Given the description of an element on the screen output the (x, y) to click on. 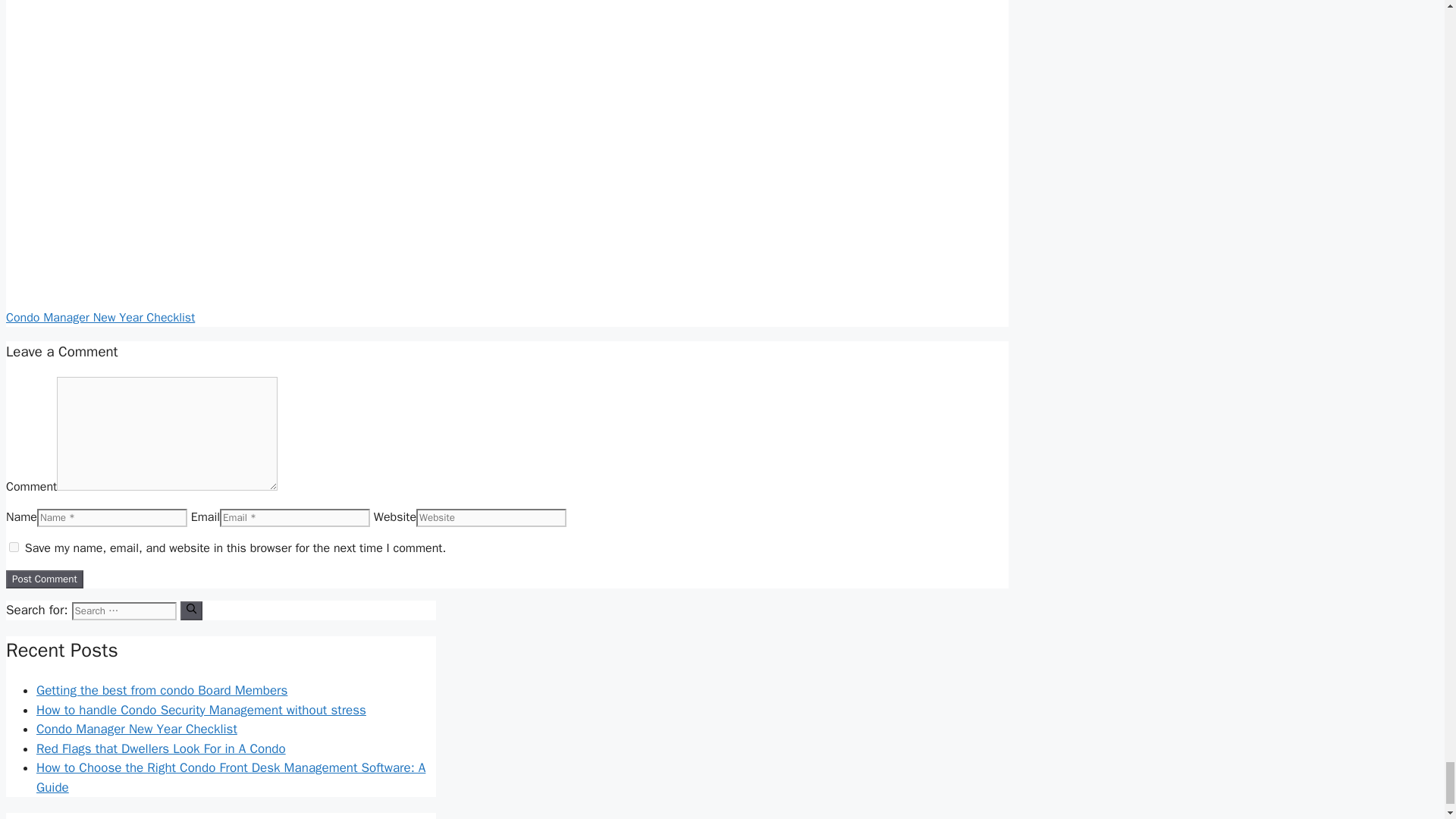
Next (100, 317)
Search for: (123, 610)
Post Comment (43, 579)
yes (13, 547)
